Given the description of an element on the screen output the (x, y) to click on. 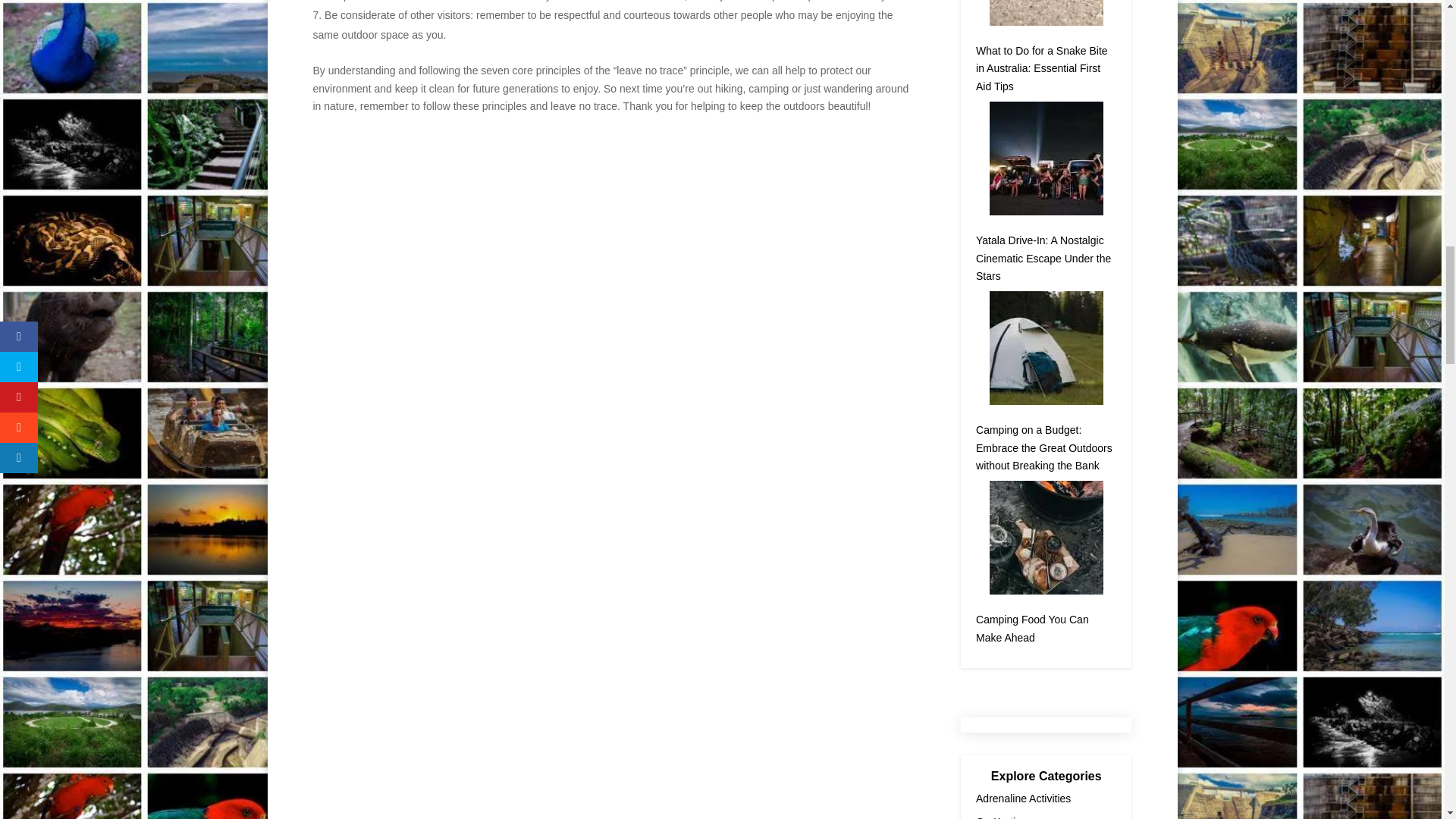
Camping Food You Can Make Ahead 10 (1046, 537)
Adrenaline Activities (1022, 798)
Go-Karting (1001, 817)
Camping Food You Can Make Ahead (1032, 628)
